Given the description of an element on the screen output the (x, y) to click on. 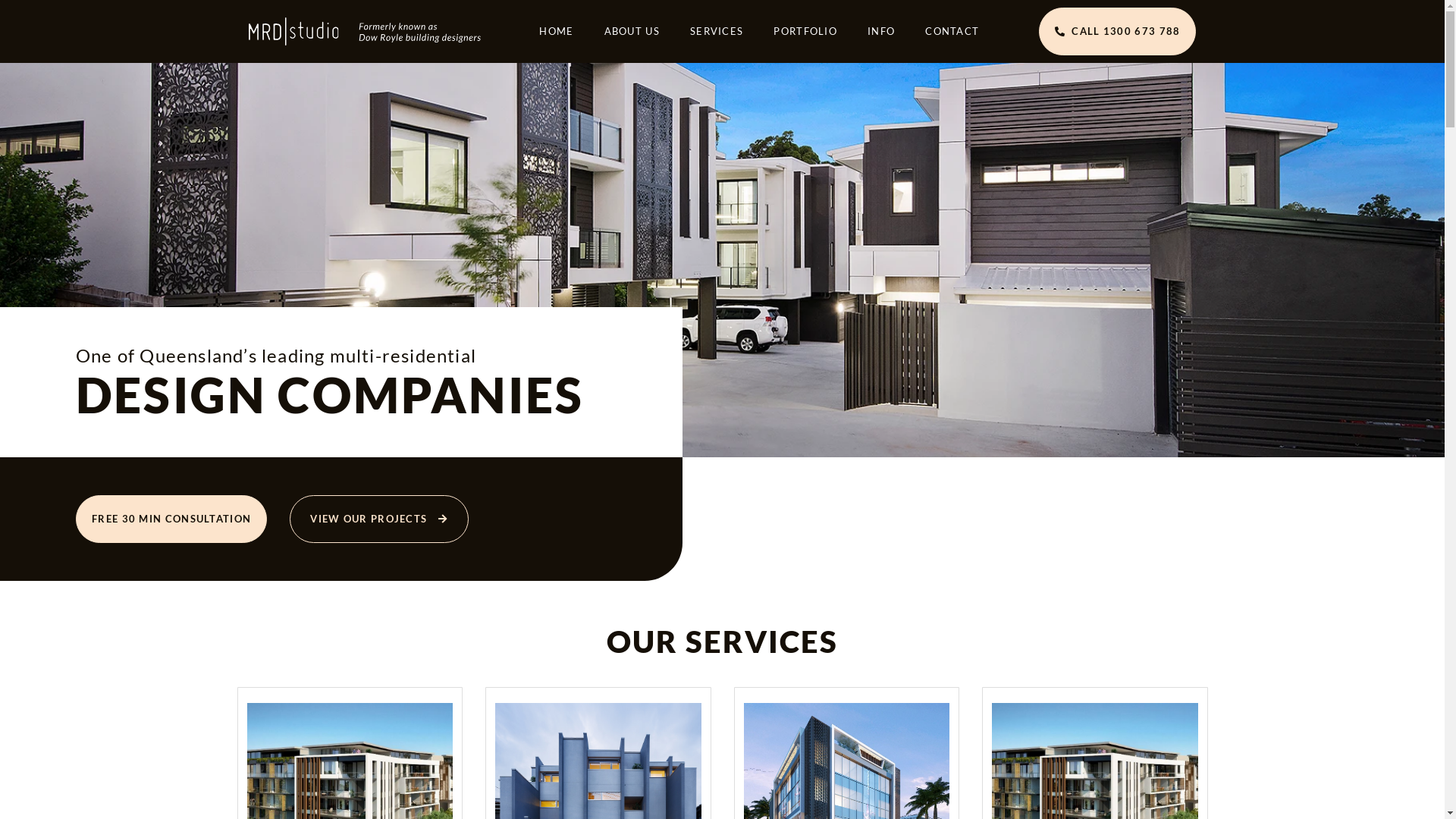
ABOUT US Element type: text (631, 30)
SERVICES Element type: text (716, 30)
CALL 1300 673 788 Element type: text (1116, 31)
VIEW OUR PROJECTS Element type: text (378, 518)
FREE 30 MIN CONSULTATION Element type: text (170, 518)
HOME Element type: text (556, 30)
CONTACT Element type: text (952, 30)
PORTFOLIO Element type: text (805, 30)
INFO Element type: text (881, 30)
